Given the description of an element on the screen output the (x, y) to click on. 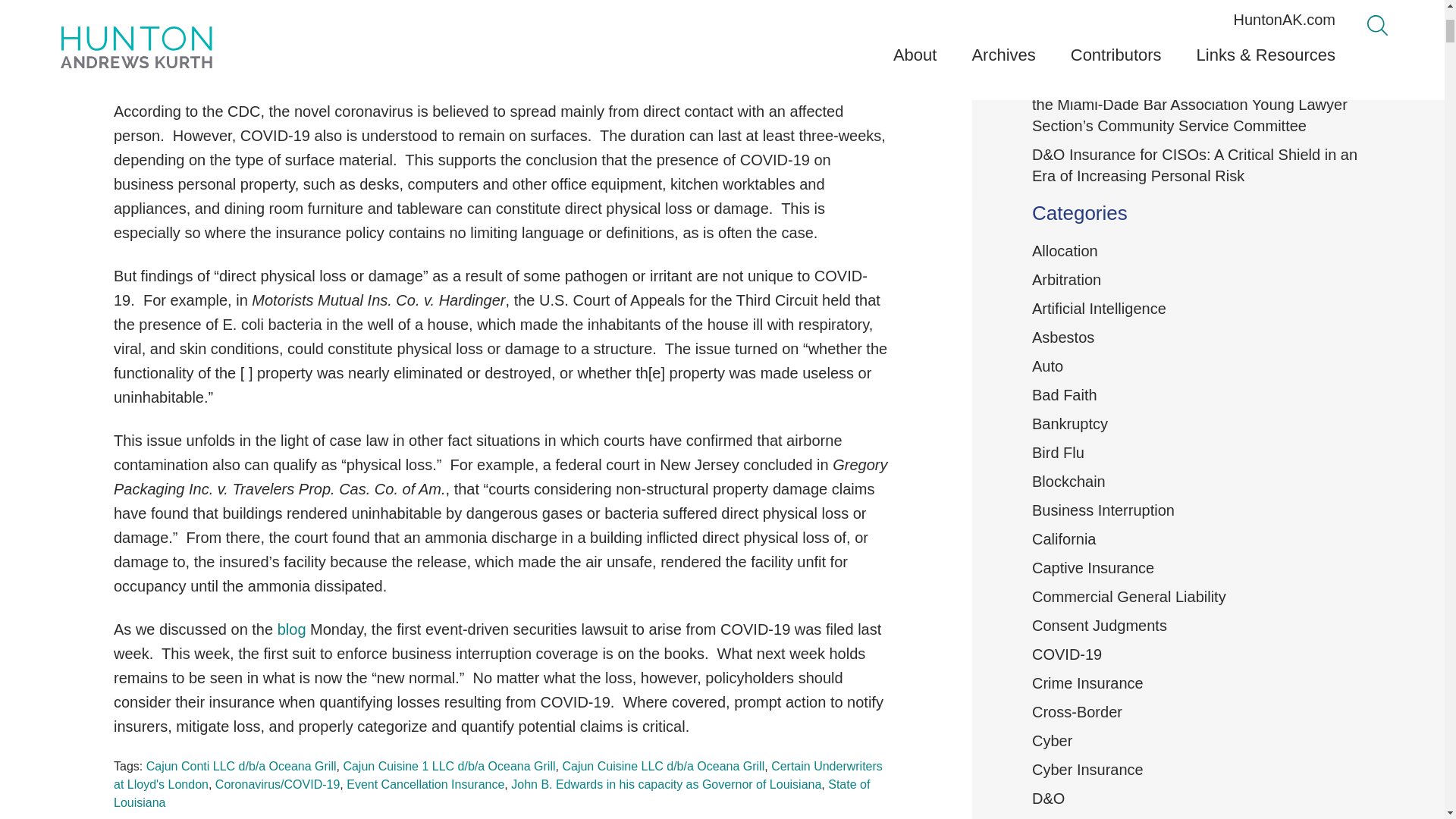
State of Louisiana (491, 793)
Event Cancellation Insurance (424, 784)
Certain Underwriters at Lloyd's London (497, 775)
John B. Edwards in his capacity as Governor of Louisiana (666, 784)
blog (291, 629)
